Given the description of an element on the screen output the (x, y) to click on. 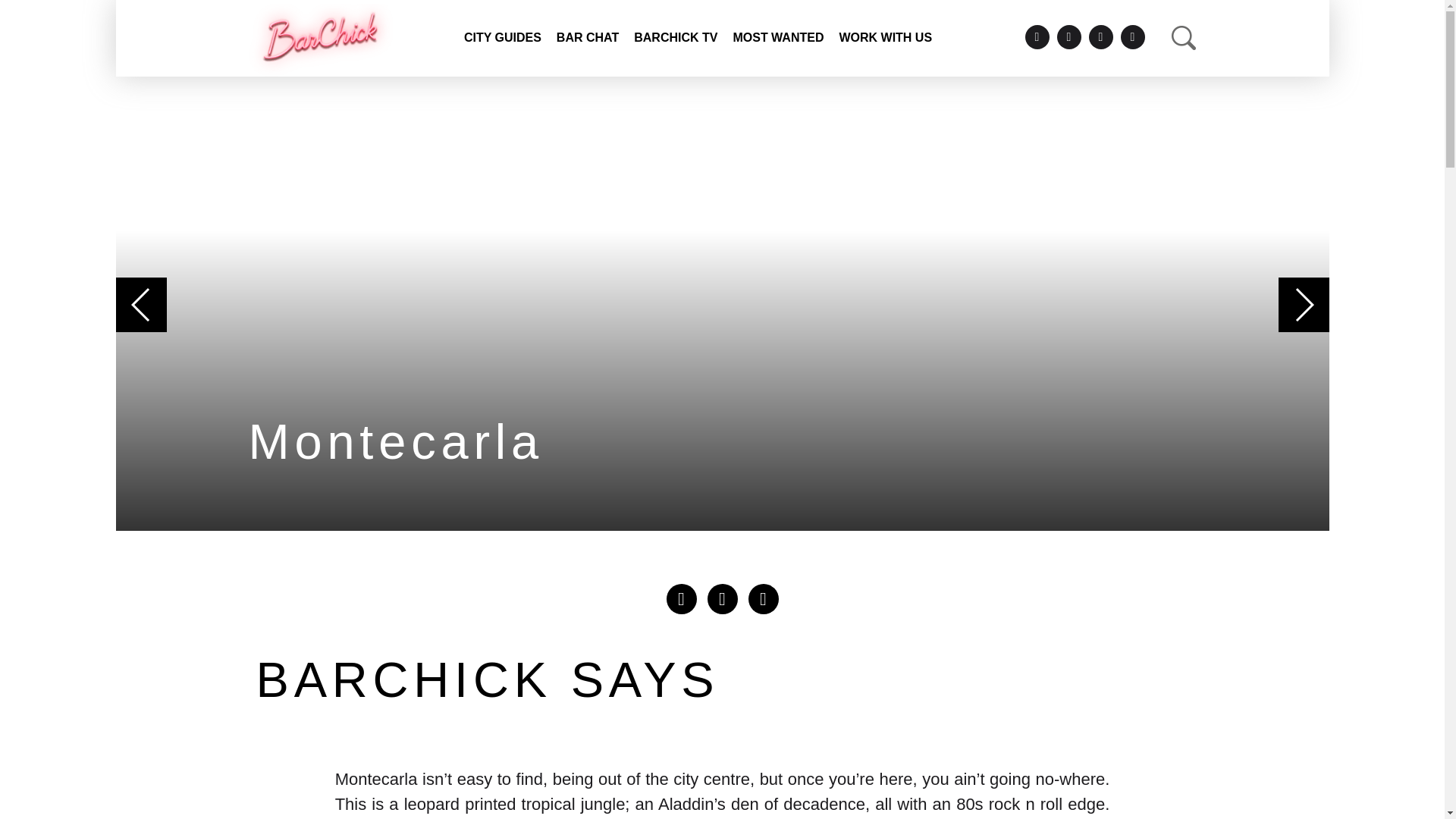
Barchick TV (675, 37)
Most Wanted (777, 37)
BarChick (320, 39)
Bar Chat (587, 37)
City Guides (502, 37)
Barchick (320, 39)
Work with us (884, 37)
WORK WITH US (884, 37)
BAR CHAT (587, 37)
MOST WANTED (777, 37)
